Given the description of an element on the screen output the (x, y) to click on. 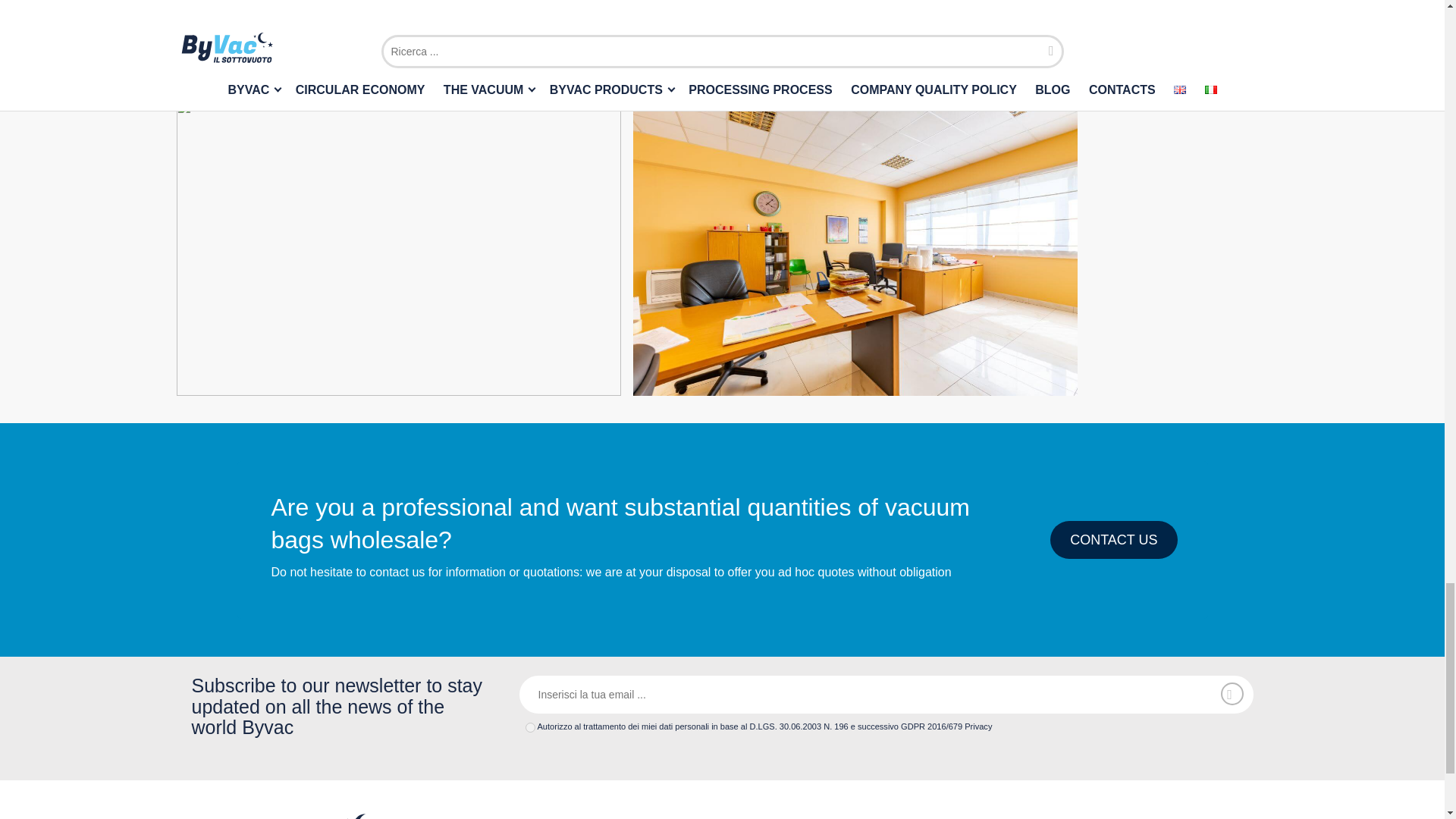
Privacy (1097, 815)
CONTACT US (1112, 539)
